Given the description of an element on the screen output the (x, y) to click on. 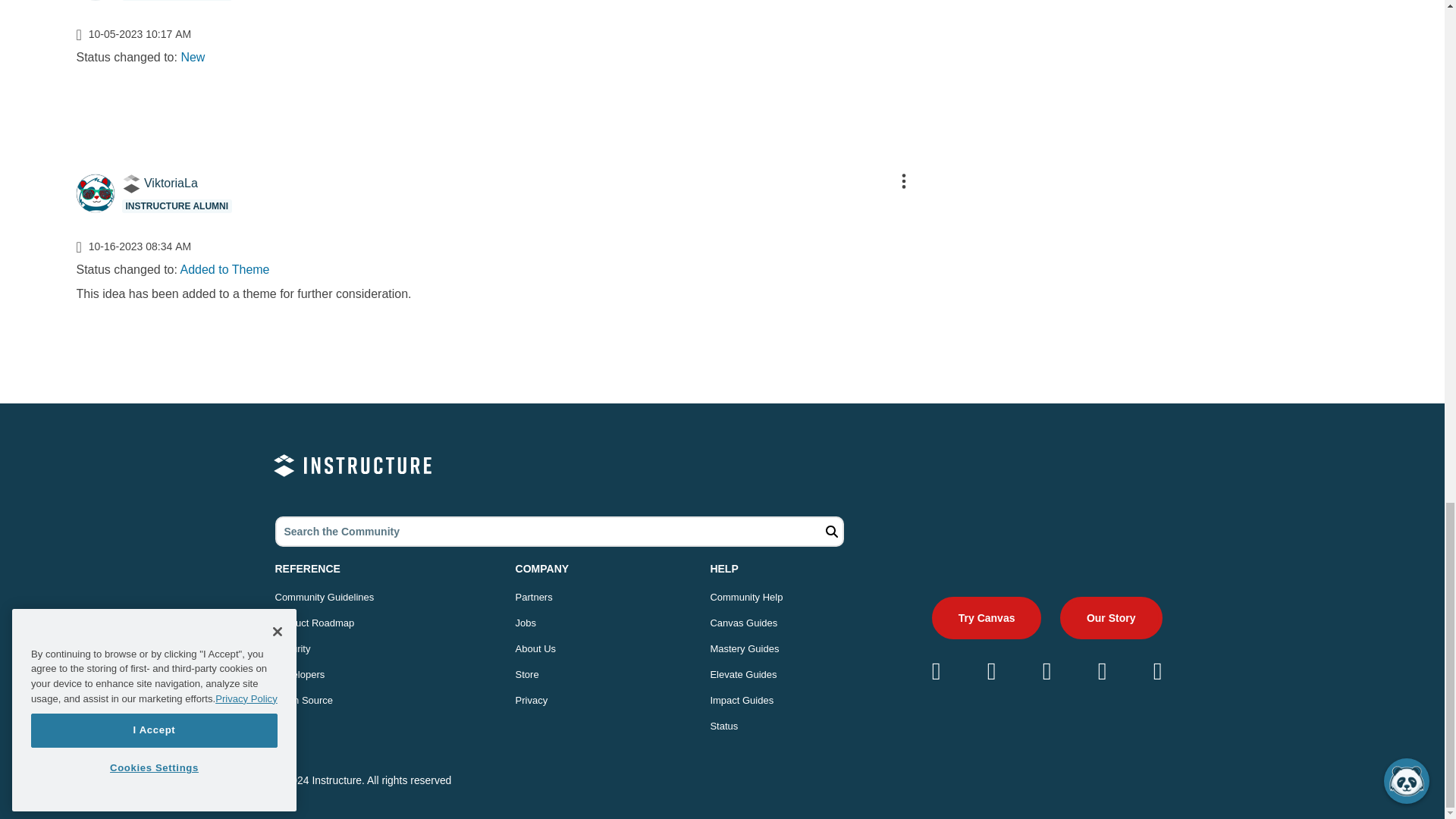
Search (830, 531)
Search (830, 531)
